Given the description of an element on the screen output the (x, y) to click on. 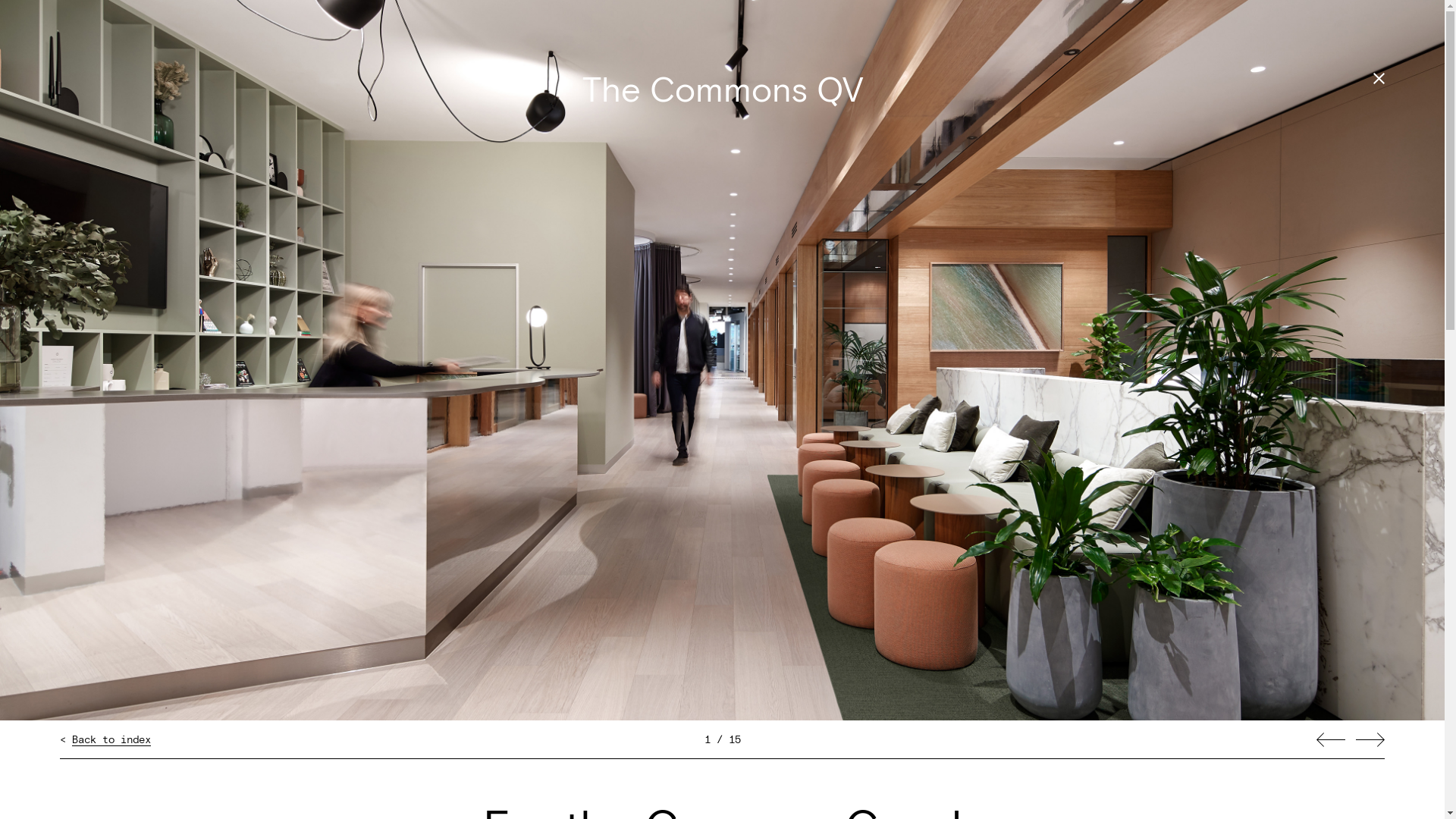
12 Anthologie Workplace Element type: text (721, 682)
15 The Commons QV Workplace Element type: text (721, 797)
01 ANZ Centre Gallery Exhibition / Workplace Element type: text (721, 261)
06 The Commons South Yarra Workplace Element type: text (721, 453)
Back to index Element type: text (111, 739)
08 Melanie Katsalidis Retail Element type: text (721, 529)
04 East Brunswick by Milieu Residential Element type: text (721, 377)
05 Chandon Australia Hospitality / Retail Element type: text (721, 415)
02 Noma Australia Hospitality Element type: text (721, 300)
10 ANZ Centre Workplace Element type: text (721, 606)
Services Element type: text (1172, 77)
07 ODE Dermatology Retail / Wellness Element type: text (721, 491)
14 A New Normal Activation / Concept Element type: text (721, 758)
Select Works Element type: text (835, 77)
Studio Element type: text (1021, 77)
11 Melbourne Airport HQ Workplace Element type: text (721, 644)
09 1R Australia Retail / Wellness Element type: text (721, 567)
03 NGV Contemporary Civic / Competition Bid Element type: text (721, 338)
